Given the description of an element on the screen output the (x, y) to click on. 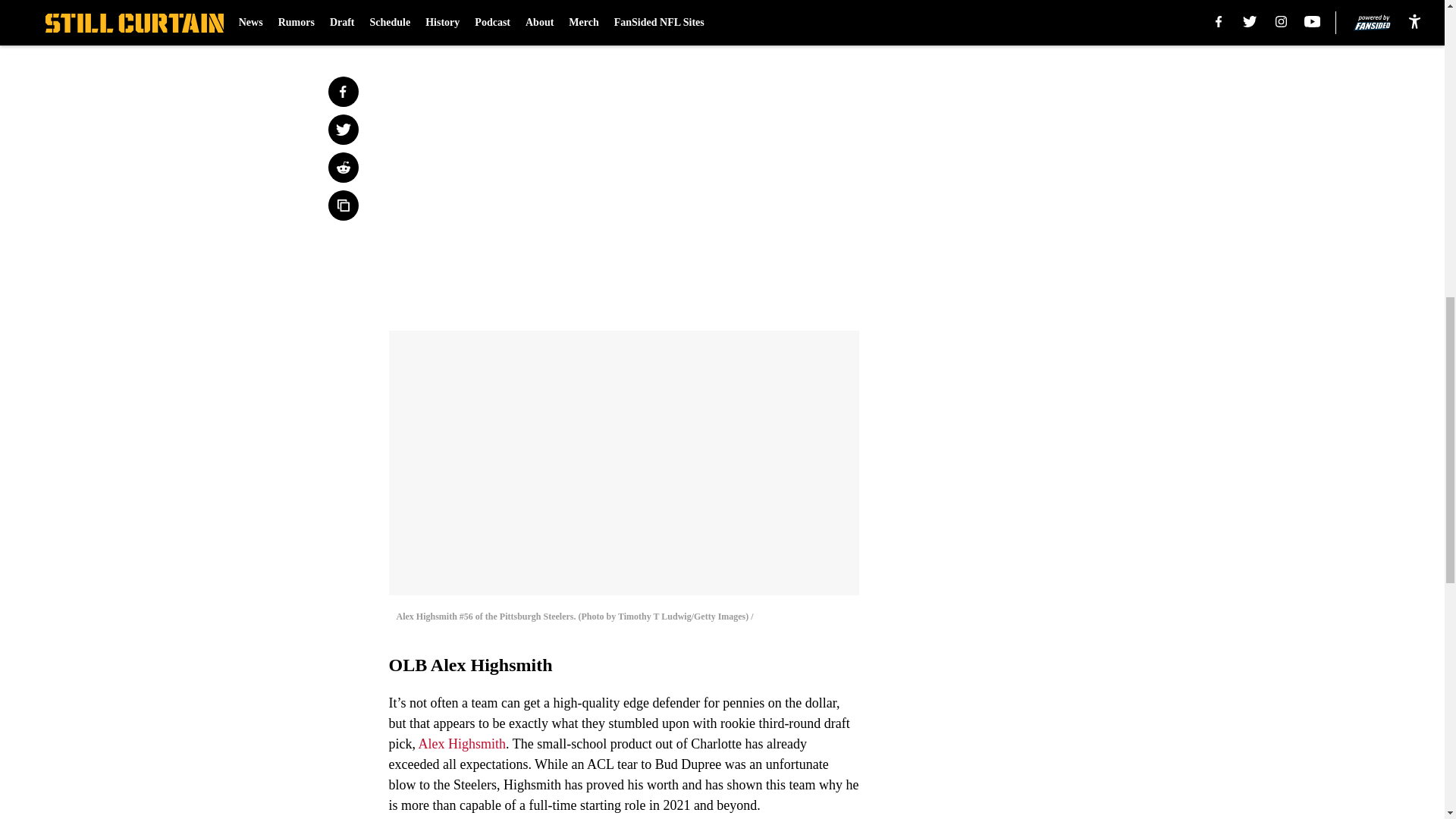
Next (813, 20)
Prev (433, 20)
Alex Highsmith (462, 743)
